Given the description of an element on the screen output the (x, y) to click on. 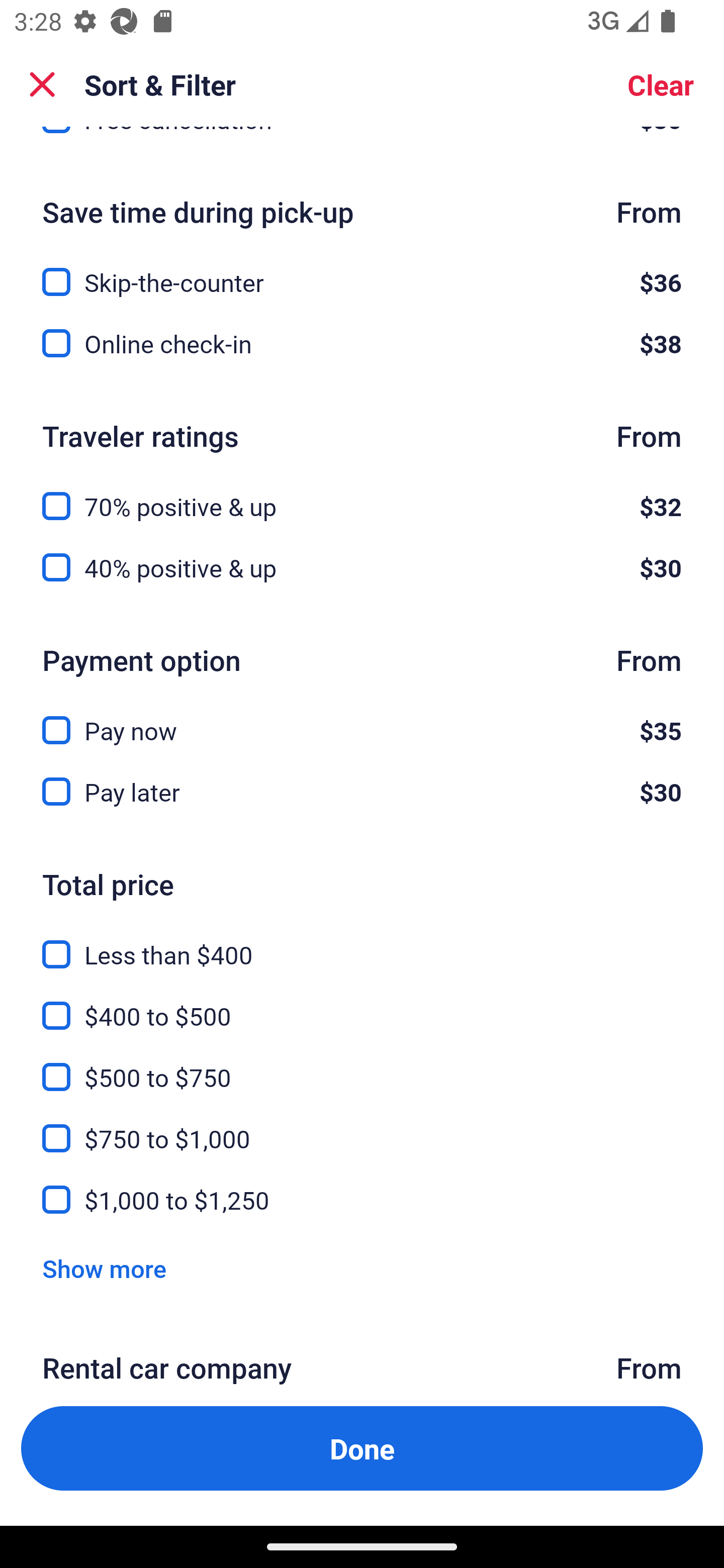
Close Sort and Filter (42, 84)
Clear (660, 84)
Skip-the-counter, $36 Skip-the-counter $36 (361, 270)
Online check-in, $38 Online check-in $38 (361, 343)
70% positive & up, $32 70% positive & up $32 (361, 494)
40% positive & up, $30 40% positive & up $30 (361, 567)
Pay now, $35 Pay now $35 (361, 718)
Pay later, $30 Pay later $30 (361, 791)
Less than $400, Less than $400 (361, 942)
$400 to $500, $400 to $500 (361, 1003)
$500 to $750, $500 to $750 (361, 1065)
$750 to $1,000, $750 to $1,000 (361, 1126)
$1,000 to $1,250, $1,000 to $1,250 (361, 1199)
Show more Show more Link (103, 1268)
Apply and close Sort and Filter Done (361, 1448)
